Given the description of an element on the screen output the (x, y) to click on. 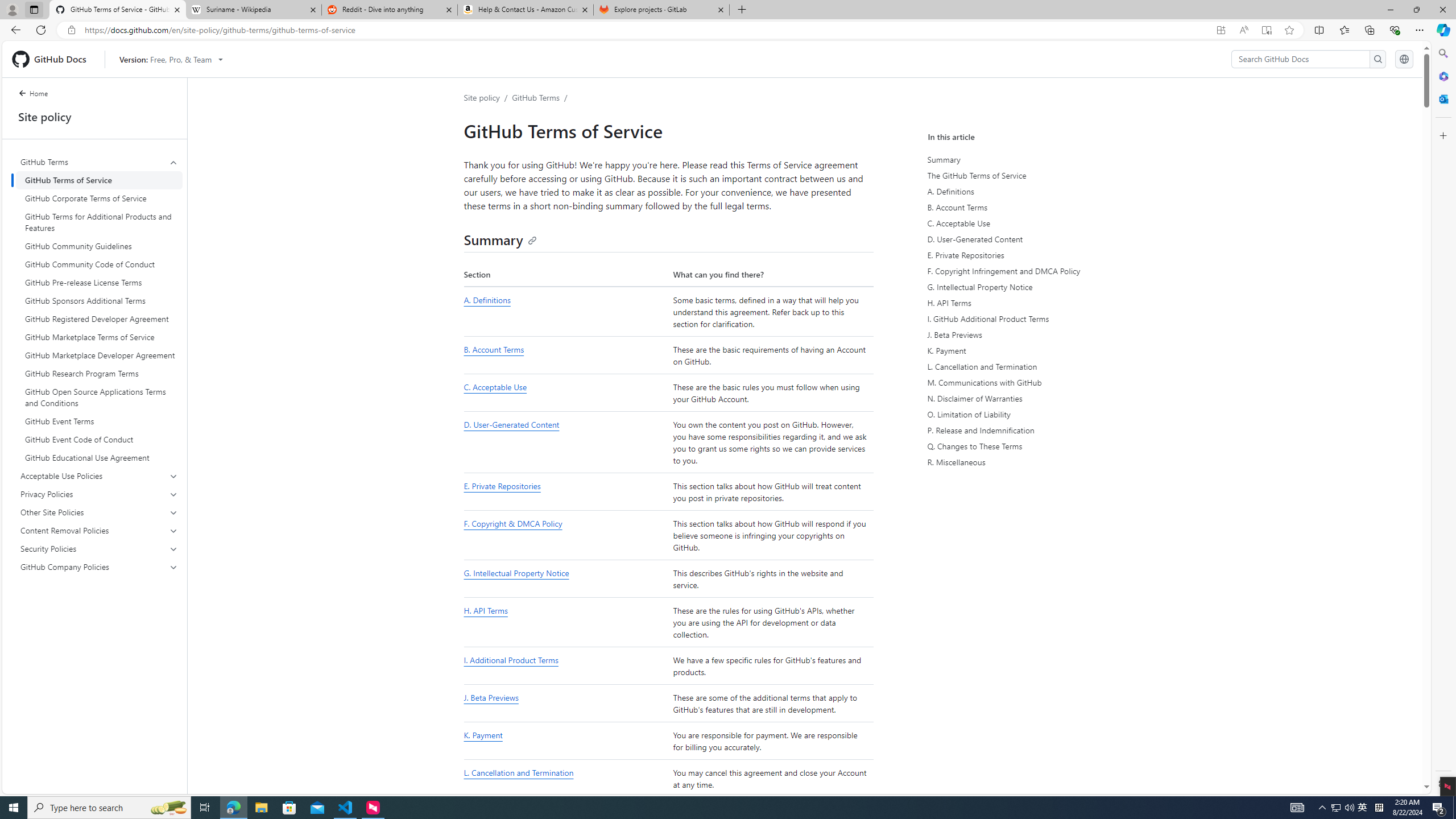
Search GitHub Docs (1300, 58)
GitHub Terms for Additional Products and Features (99, 222)
R. Miscellaneous (1032, 462)
B. Account Terms (1032, 207)
GitHub Corporate Terms of Service (99, 198)
F. Copyright & DMCA Policy (512, 523)
O. Limitation of Liability (1032, 414)
F. Copyright Infringement and DMCA Policy (1032, 271)
GitHub Company Policies (99, 566)
H. API Terms (485, 610)
